Given the description of an element on the screen output the (x, y) to click on. 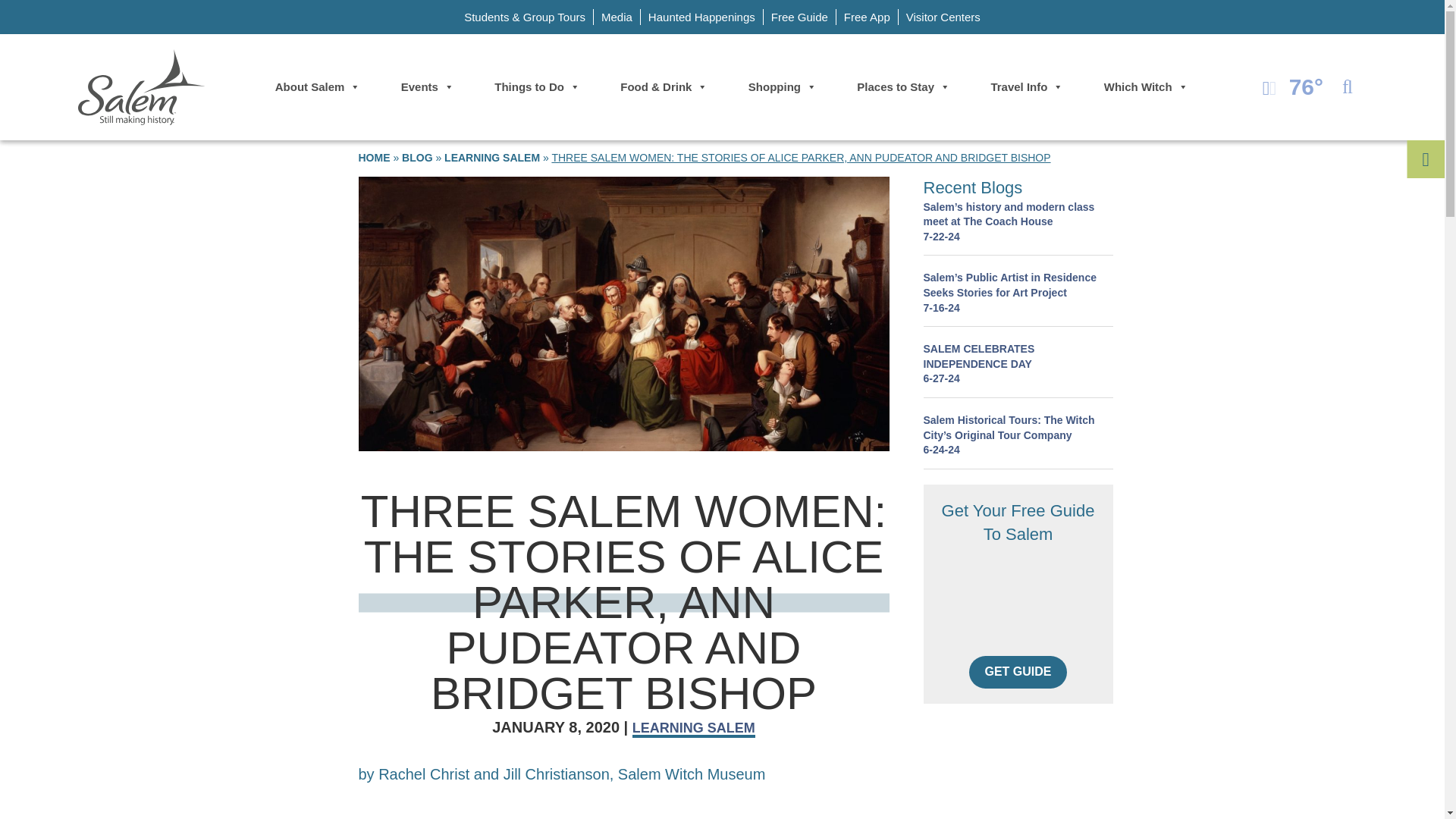
Events (427, 87)
Free App (866, 17)
Things to Do (537, 87)
About Salem (317, 87)
Free Guide (798, 17)
Media (617, 17)
Haunted Happenings (701, 17)
Shopping (782, 87)
Visitor Centers (943, 17)
SALEM CELEBRATES INDEPENDENCE DAY (1018, 364)
